Given the description of an element on the screen output the (x, y) to click on. 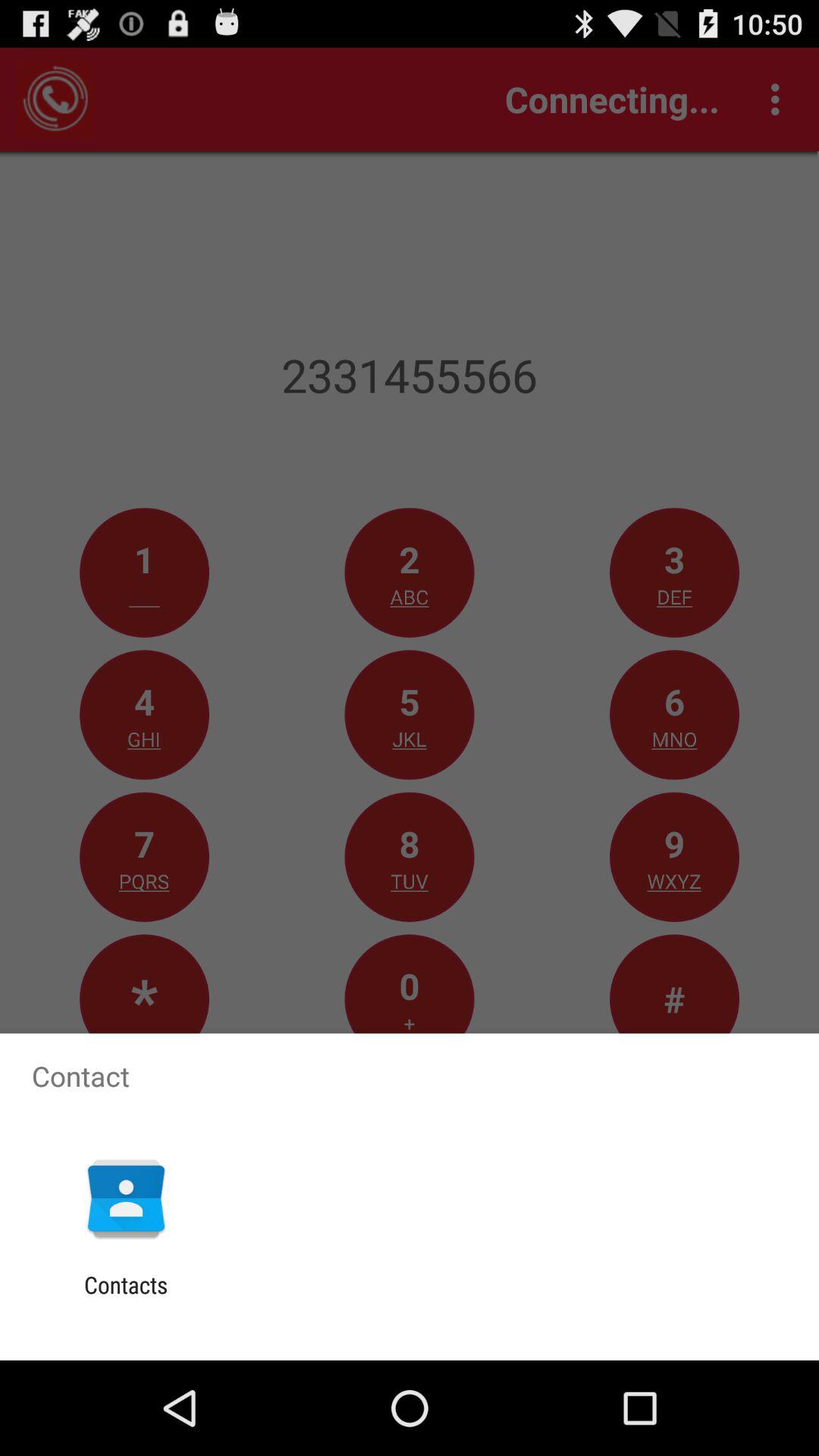
turn on contacts app (125, 1298)
